Given the description of an element on the screen output the (x, y) to click on. 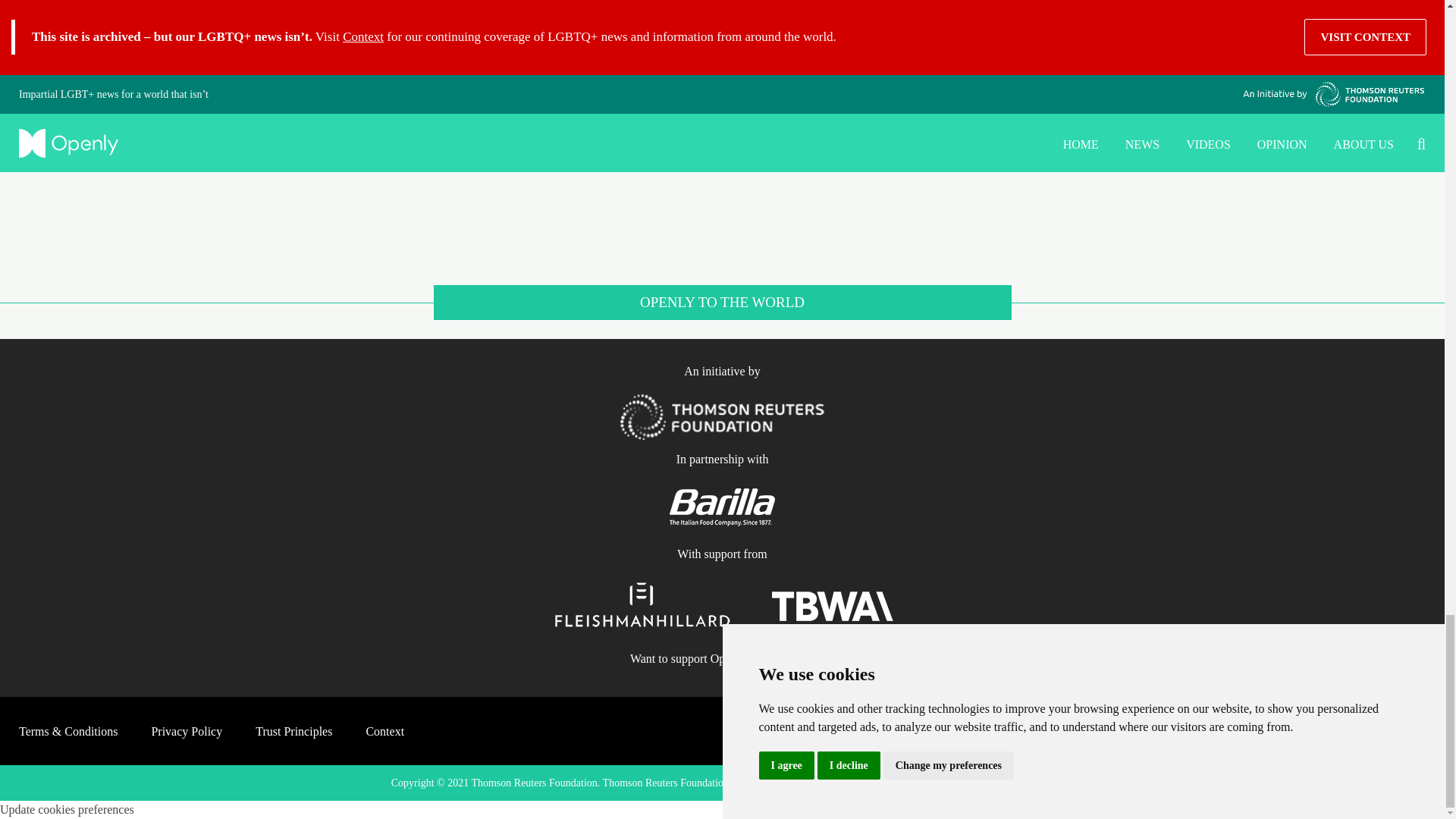
Privacy Policy (186, 730)
Get in touch (783, 658)
Trust Principles (293, 730)
Update cookies preferences (66, 809)
Context (384, 730)
OPENLY TO THE WORLD (722, 312)
